Given the description of an element on the screen output the (x, y) to click on. 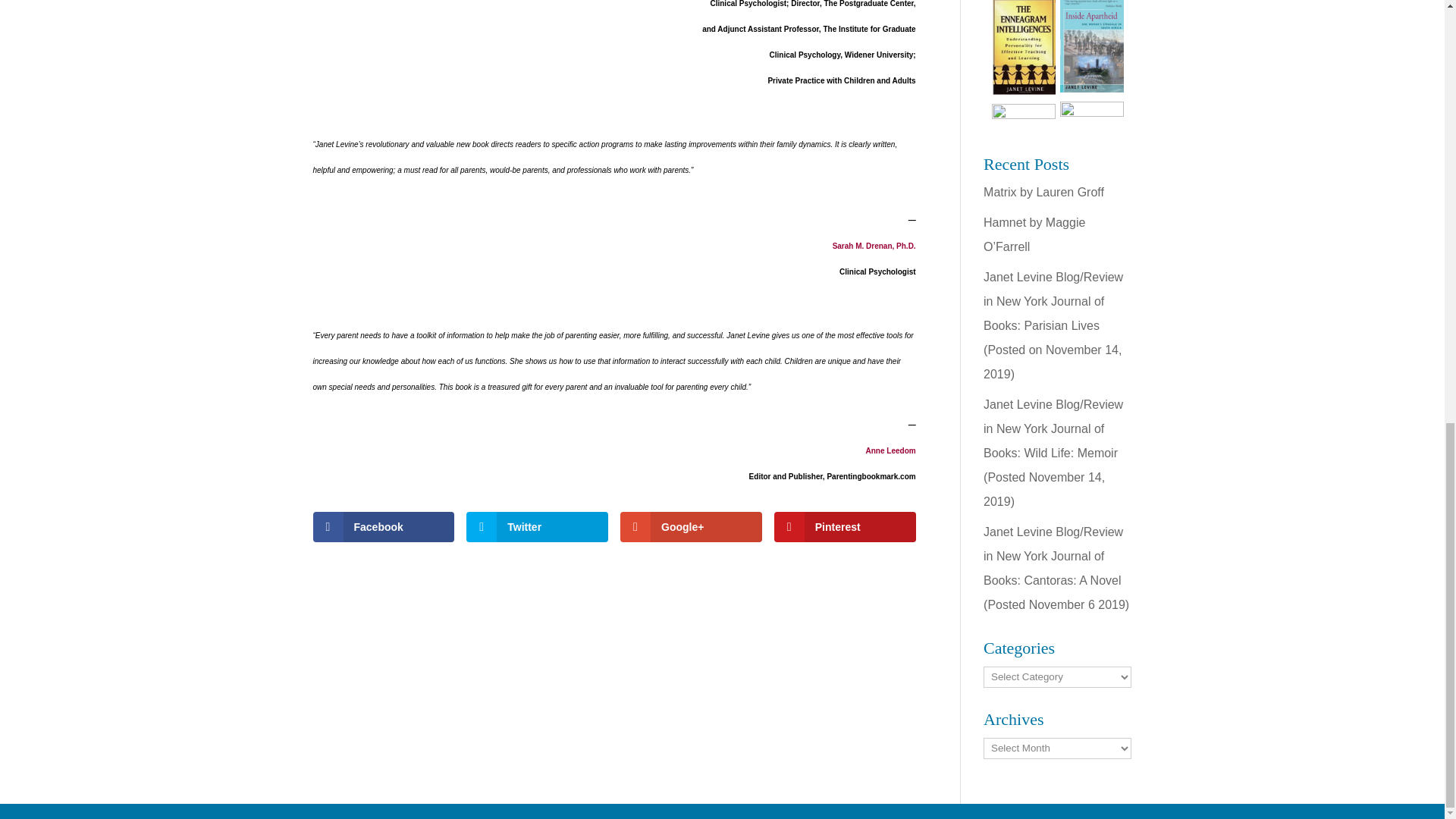
Matrix by Lauren Groff (1043, 192)
Twitter (536, 526)
Pinterest (844, 526)
Facebook (383, 526)
